Given the description of an element on the screen output the (x, y) to click on. 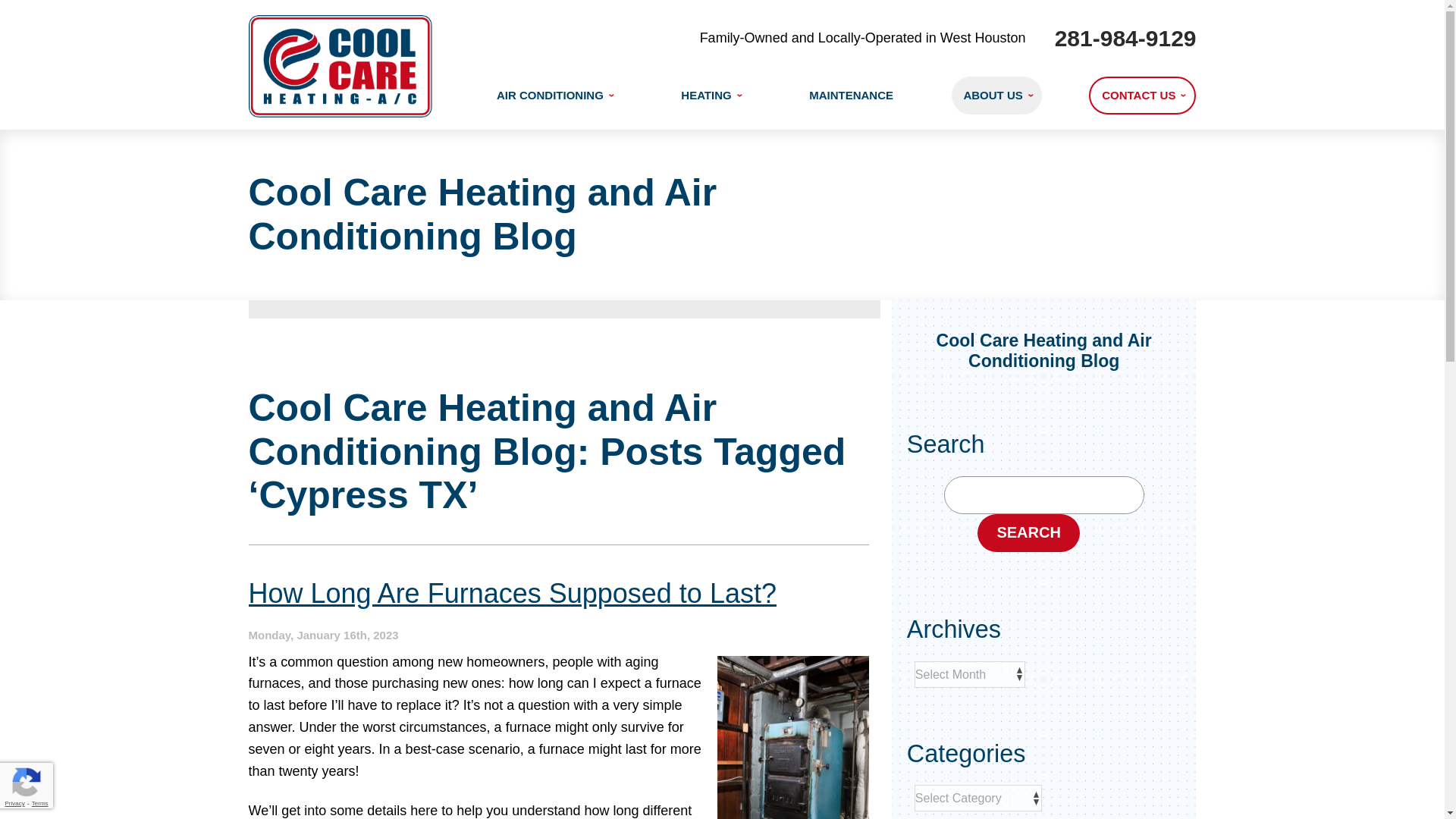
Permanent Link to How Long Are Furnaces Supposed to Last? (512, 593)
HEATING (709, 95)
AIR CONDITIONING (553, 95)
MAINTENANCE (850, 95)
281-984-9129 (1125, 37)
CONTACT US (1142, 95)
ABOUT US (996, 95)
